Given the description of an element on the screen output the (x, y) to click on. 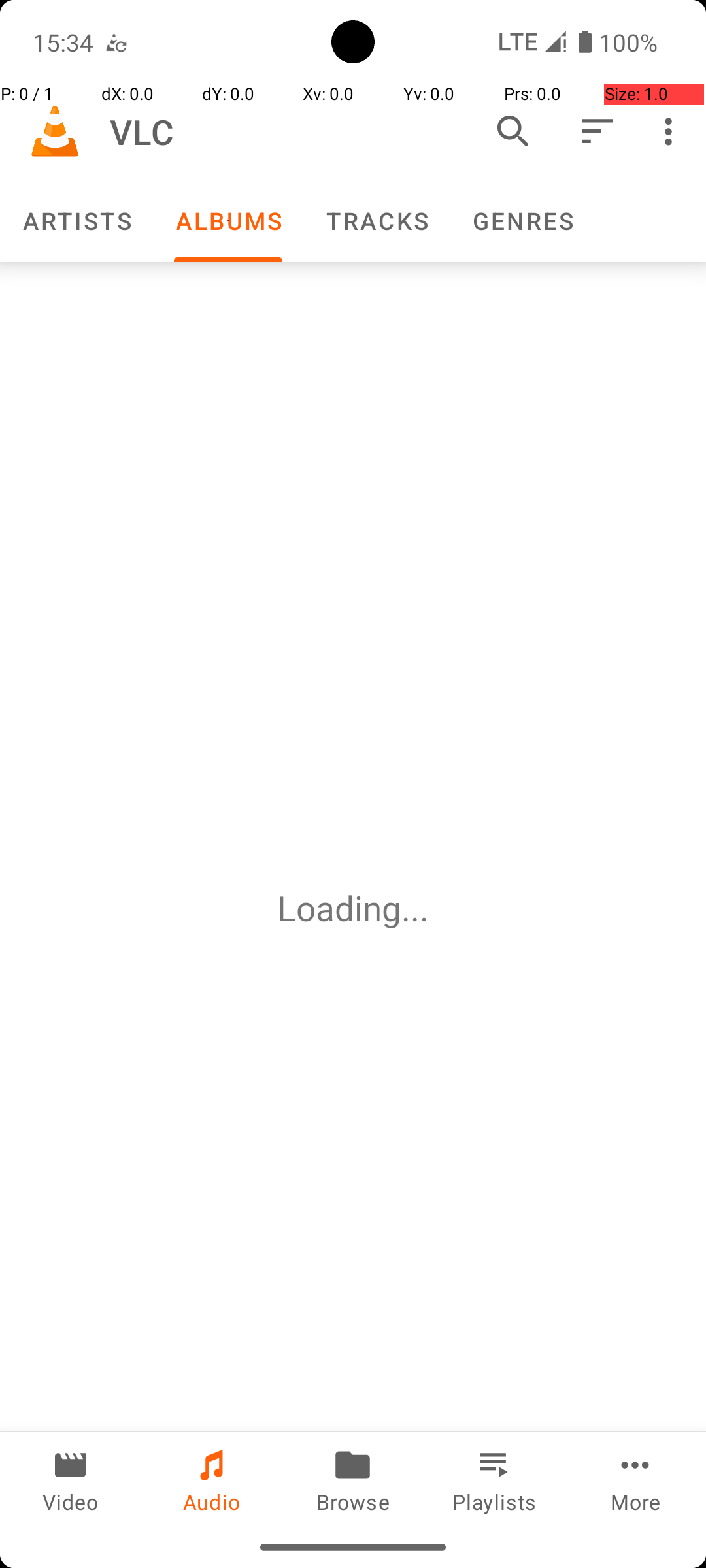
... Element type: android.widget.TextView (414, 907)
